Given the description of an element on the screen output the (x, y) to click on. 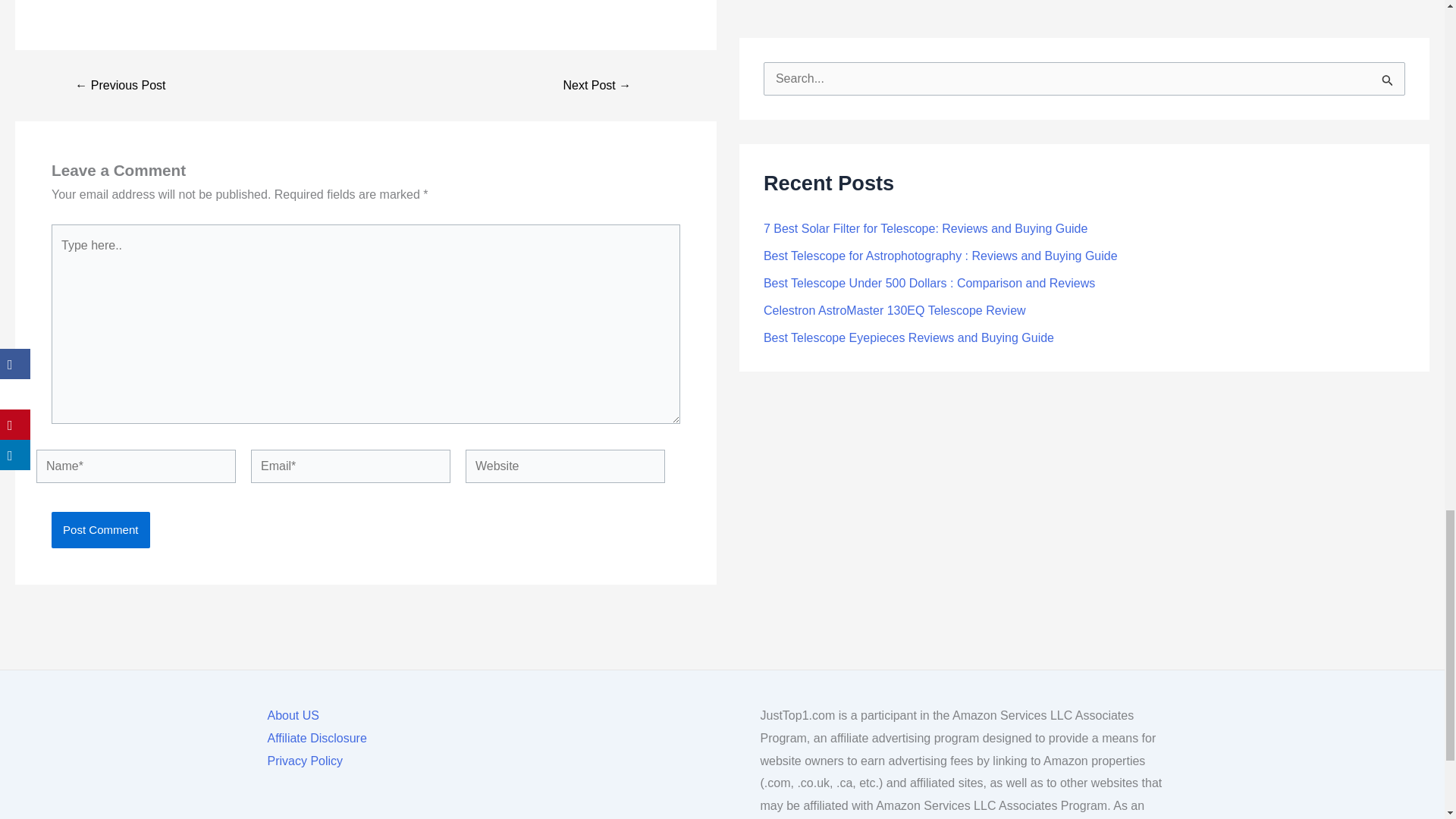
How To Set Up a Spinning Reel : An Ultimate Guide (597, 85)
Affiliate Disclosure (316, 738)
Post Comment (99, 529)
Dobsonian vs Newtonian Telescope: What is the Difference? (119, 85)
About US (292, 715)
Post Comment (99, 529)
Privacy Policy (304, 761)
